Given the description of an element on the screen output the (x, y) to click on. 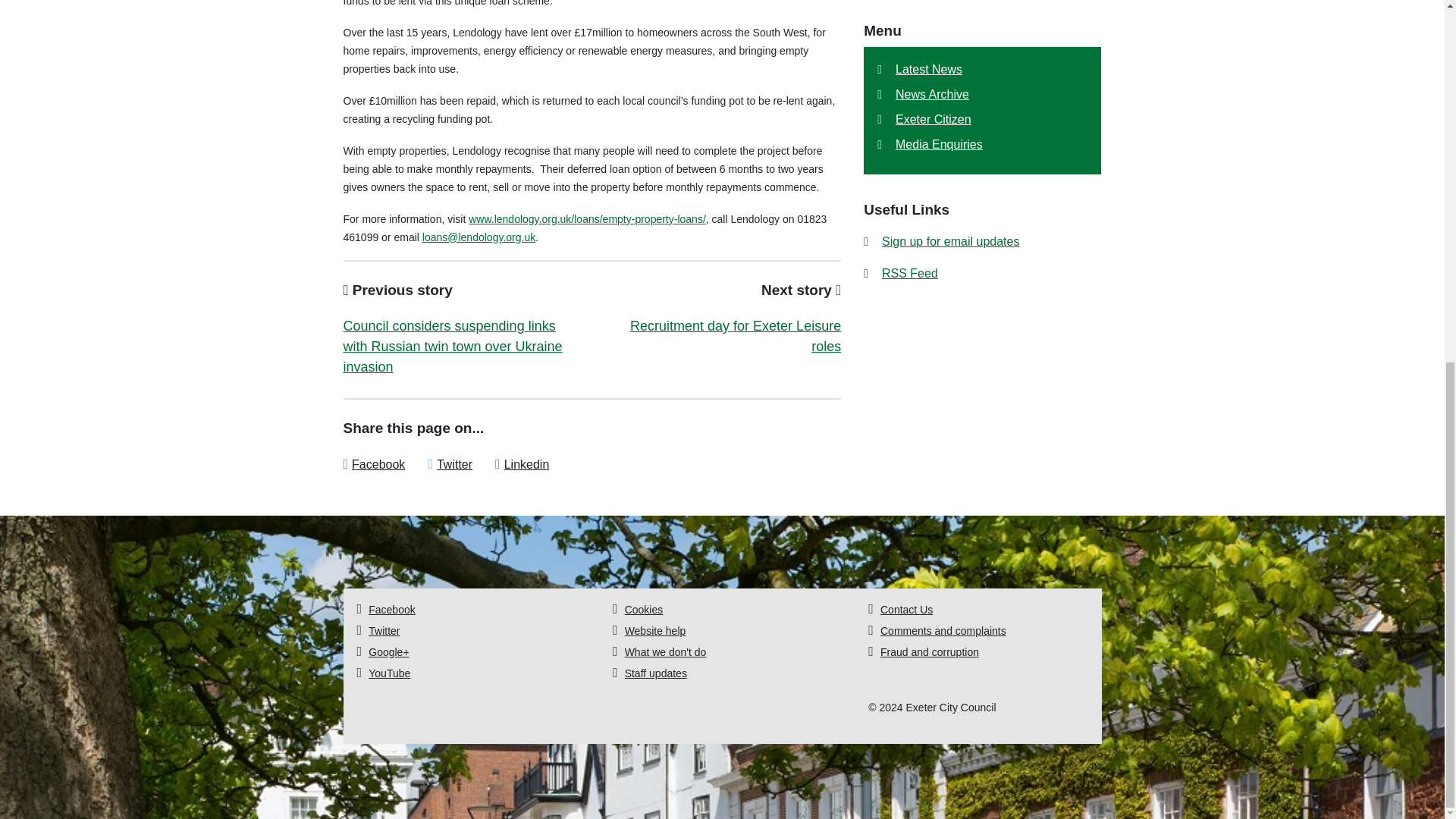
Contact Us (906, 609)
Twitter (453, 463)
What we don't do (665, 652)
Fraud and corruption (929, 652)
Comments and complaints (943, 630)
Cookies (643, 609)
Linkedin (526, 463)
Facebook (378, 463)
Website help (654, 630)
Staff updates (655, 673)
